Given the description of an element on the screen output the (x, y) to click on. 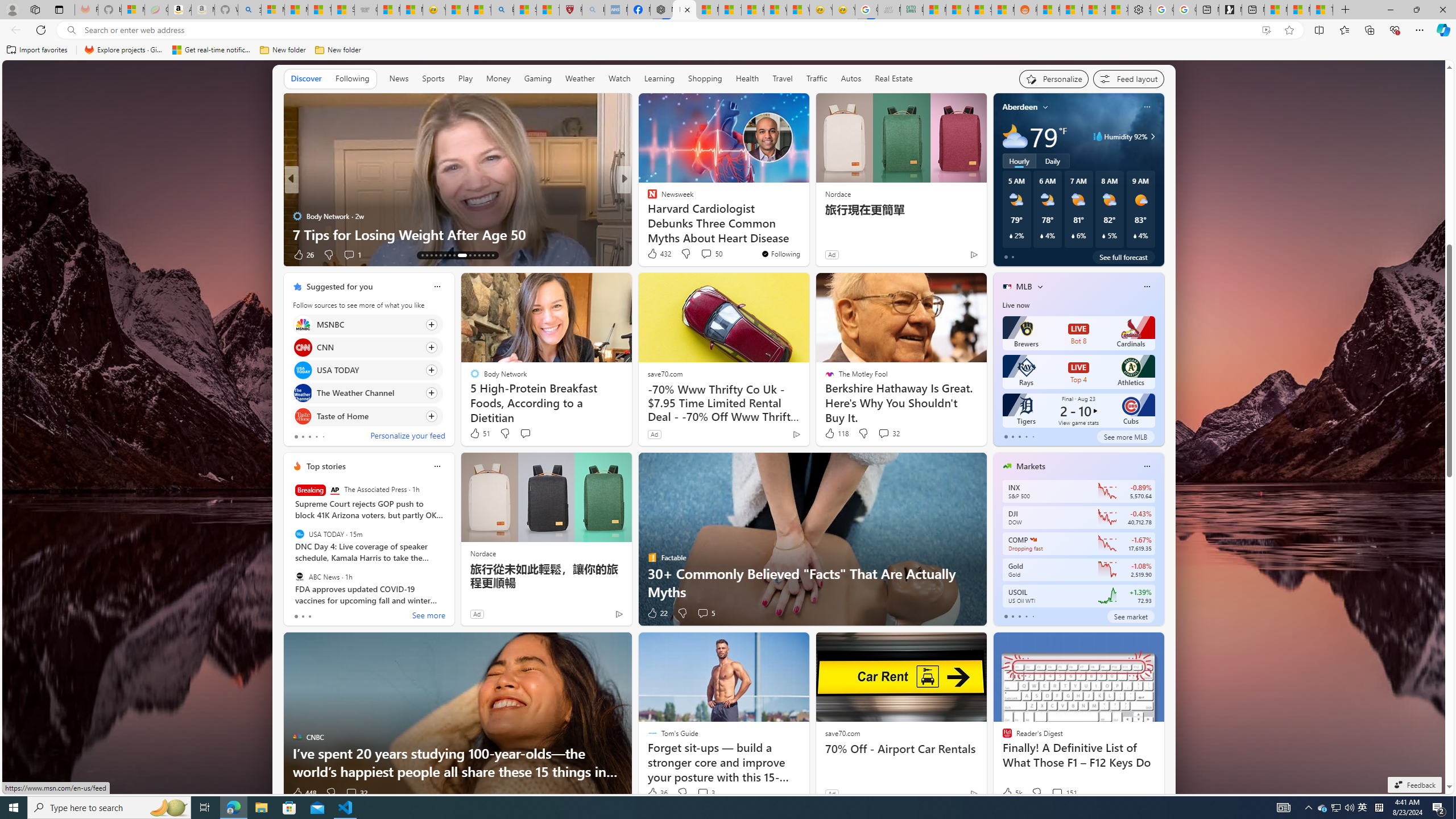
View comments 64 Comment (6, 254)
AutomationID: tab-70 (440, 255)
View comments 3 Comment (703, 792)
51 Like (479, 433)
Click to follow source USA TODAY (367, 370)
View comments 6 Comment (703, 254)
View comments 14 Comment (707, 254)
See more MLB (1125, 436)
tab-0 (1005, 616)
